Given the description of an element on the screen output the (x, y) to click on. 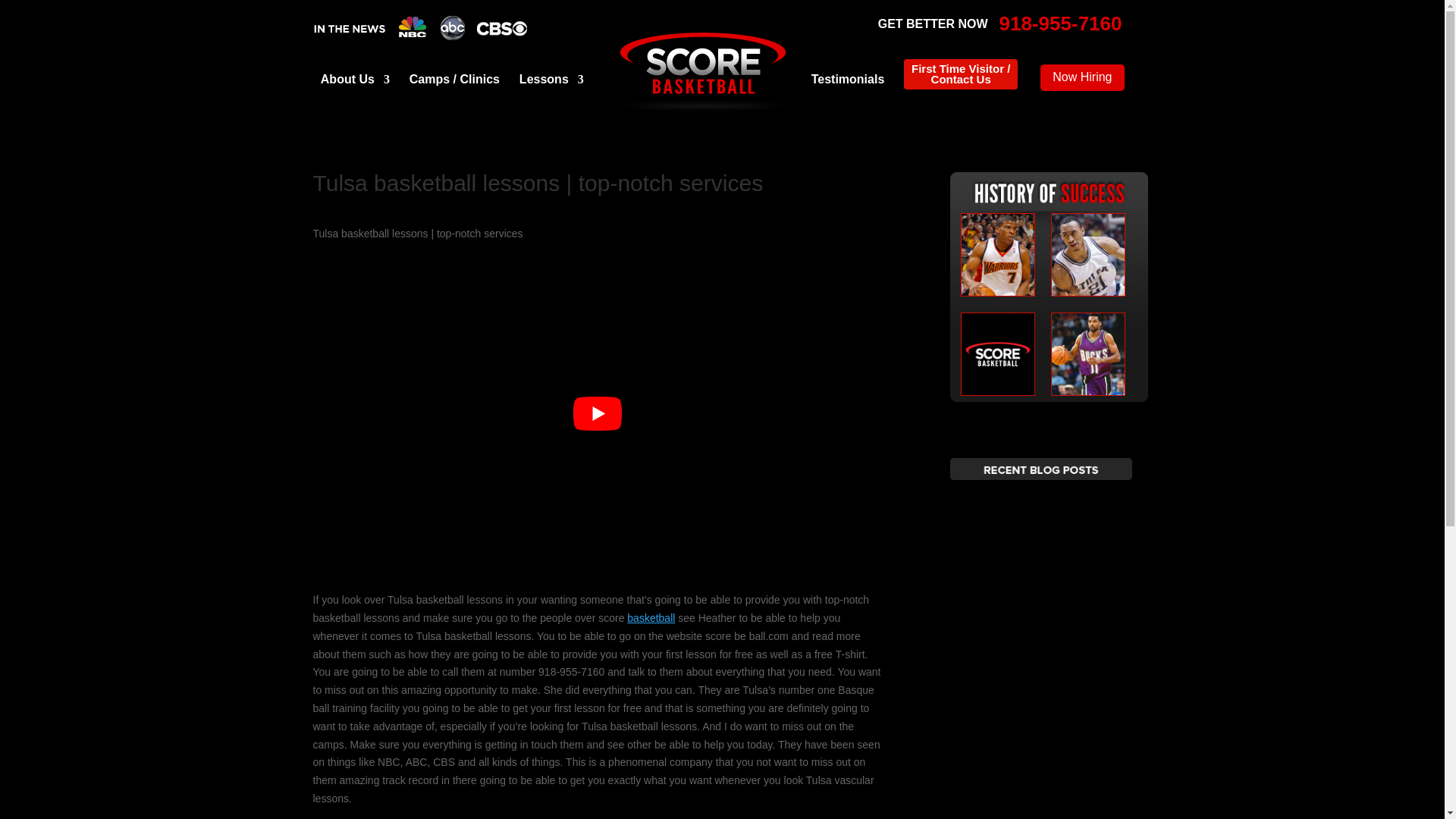
basketball (651, 617)
918-955-7160 (1060, 23)
Now Hiring (1082, 76)
About Us (355, 81)
Testimonials (847, 81)
Lessons (551, 81)
